Given the description of an element on the screen output the (x, y) to click on. 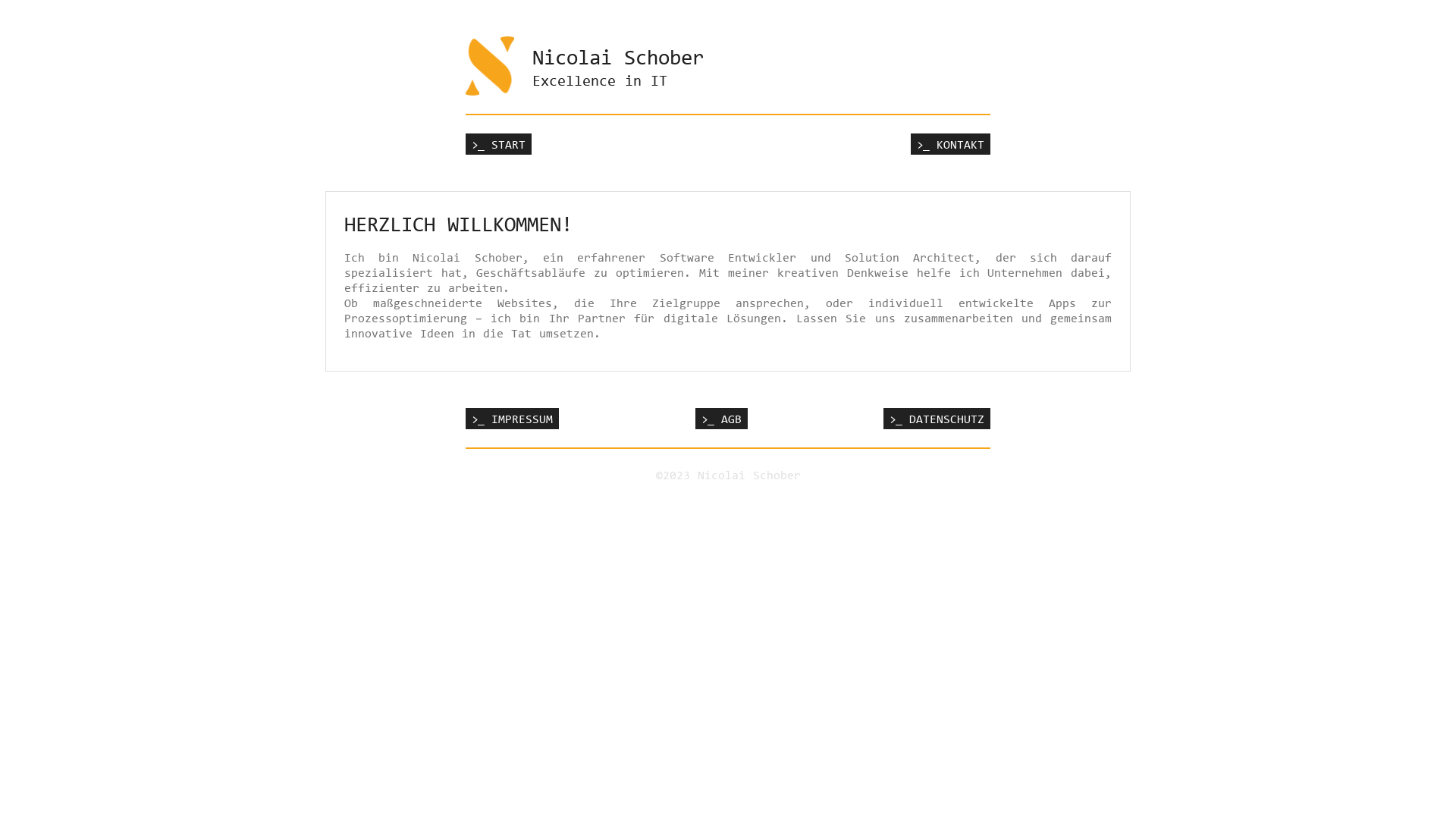
Nicolai Schober
Excellence in IT Element type: text (727, 75)
>_ IMPRESSUM Element type: text (511, 418)
>_ DATENSCHUTZ Element type: text (936, 418)
>_ AGB Element type: text (720, 418)
>_ KONTAKT Element type: text (950, 143)
>_ START Element type: text (498, 143)
